Given the description of an element on the screen output the (x, y) to click on. 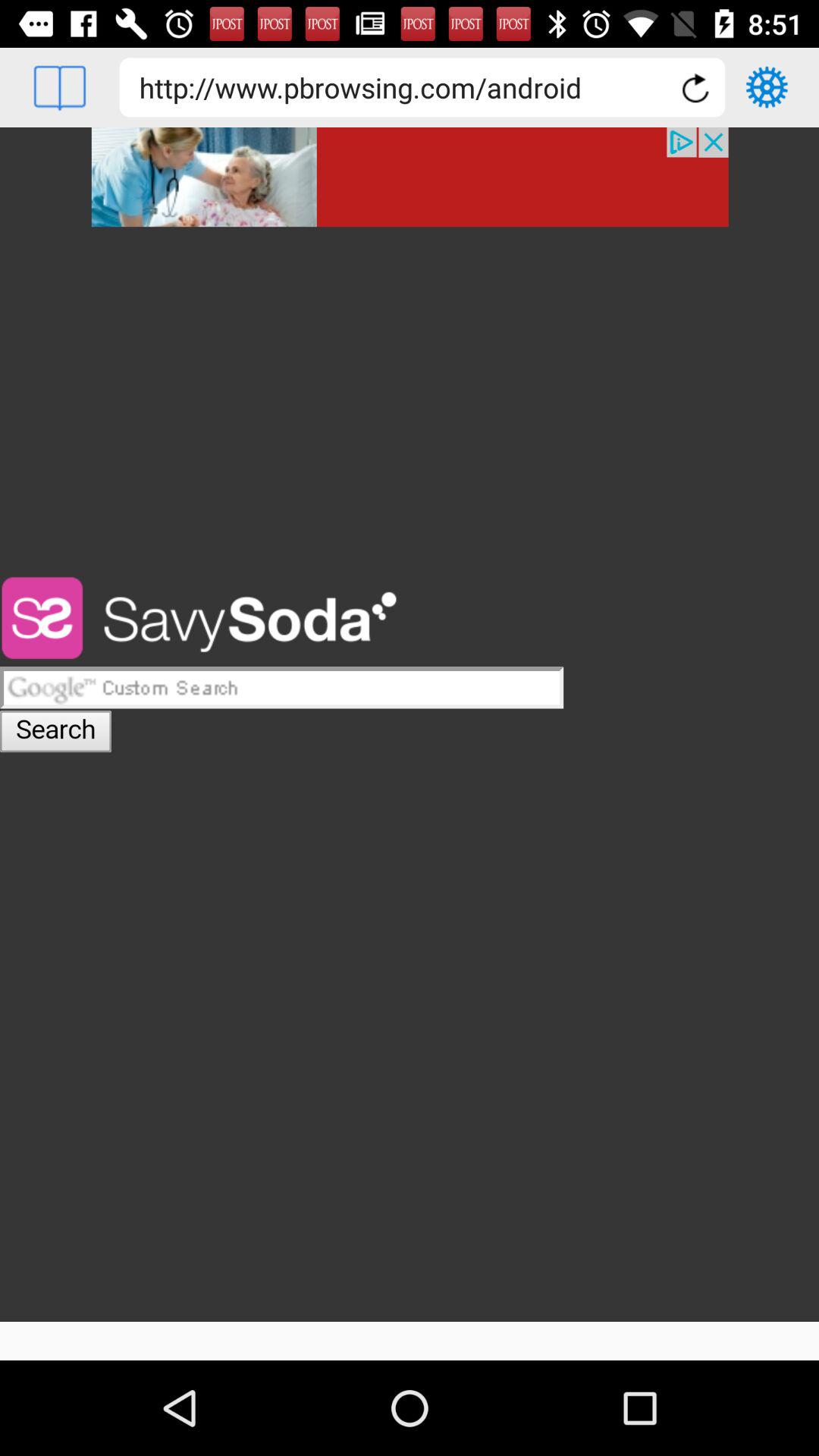
go to setting (766, 87)
